Given the description of an element on the screen output the (x, y) to click on. 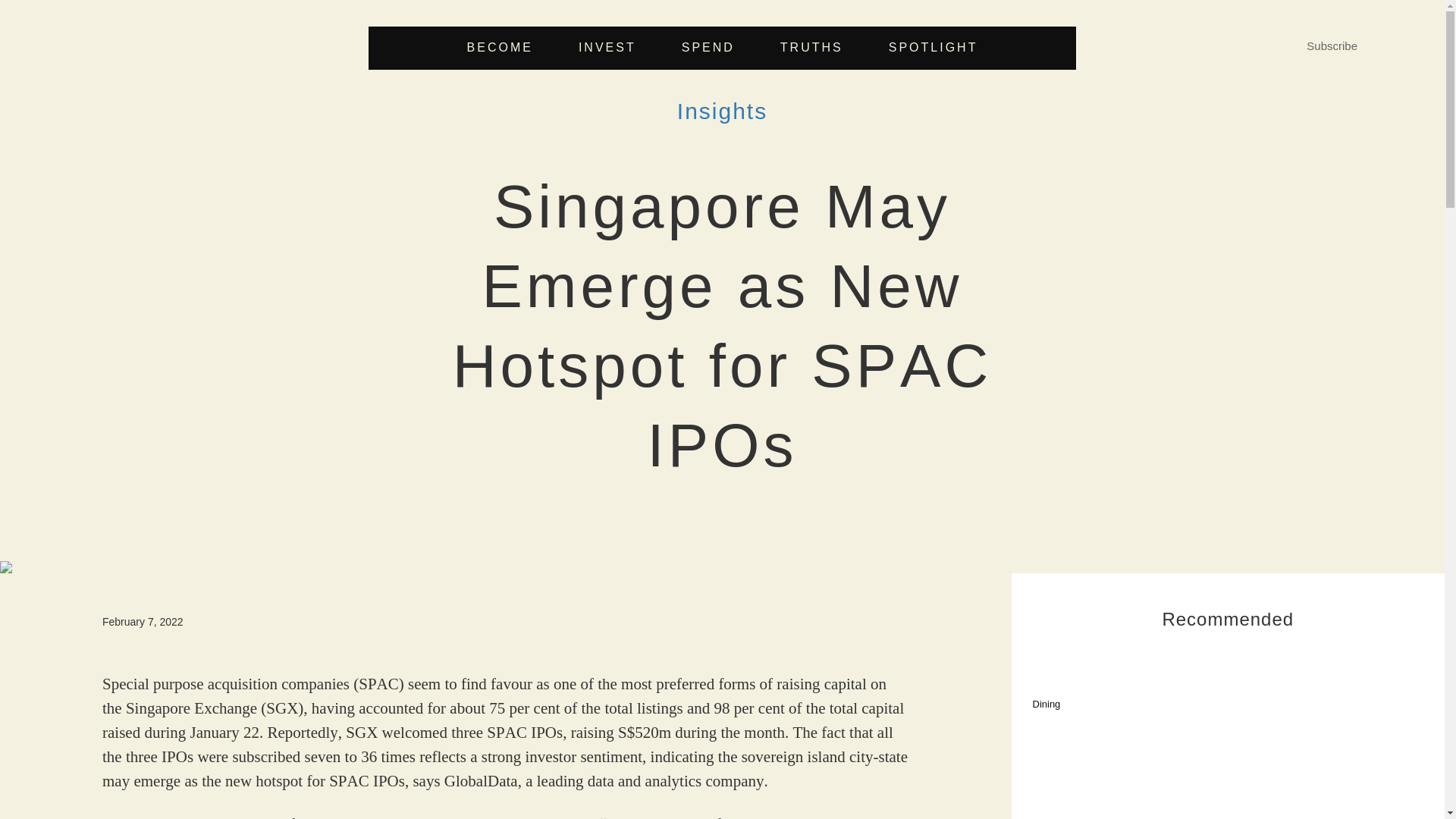
BECOME (500, 48)
Subscribe (1331, 45)
INVEST (606, 48)
Search (861, 406)
